Given the description of an element on the screen output the (x, y) to click on. 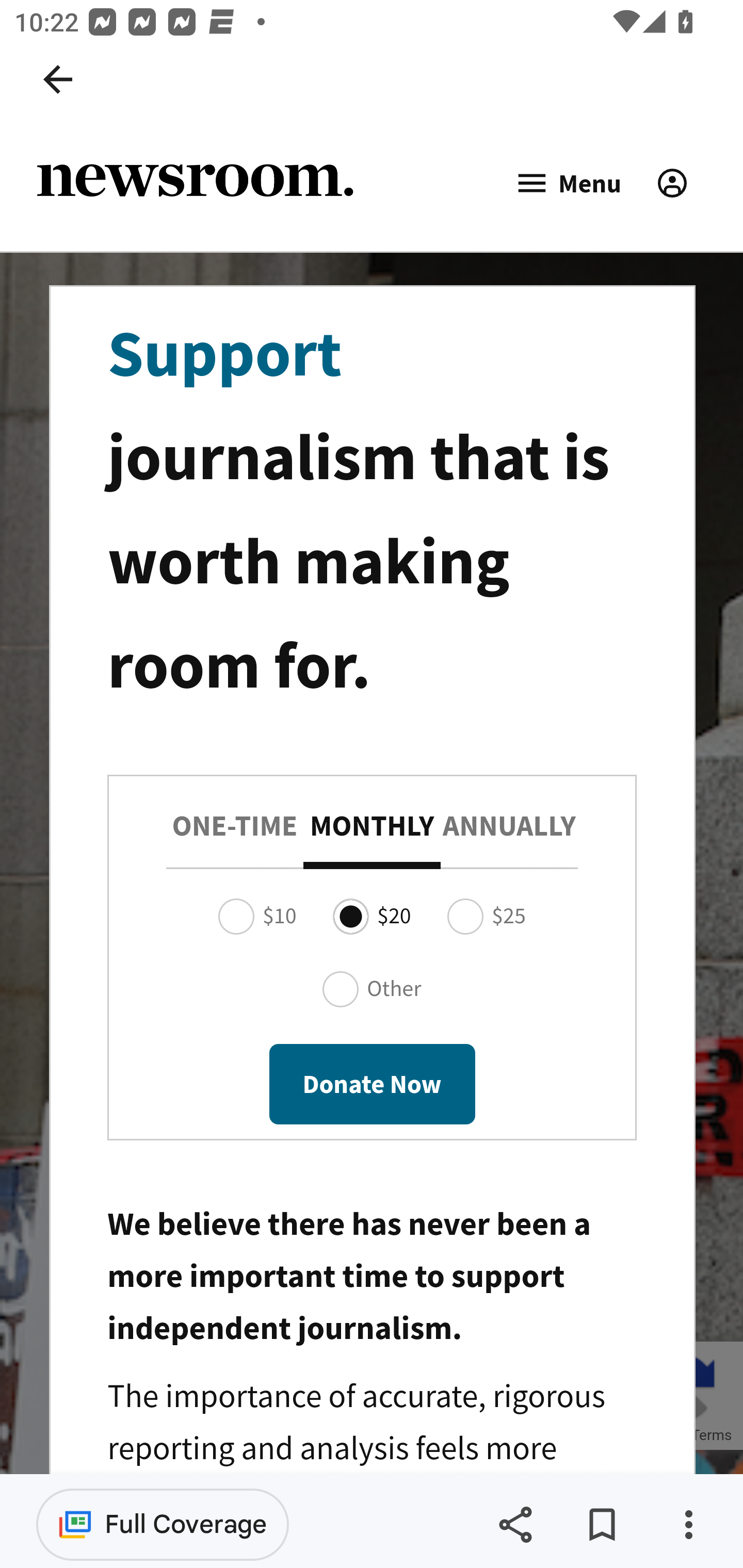
Navigate up (57, 79)
Newsroom (194, 182)
Sign In (672, 182)
Menu (567, 183)
ONE-TIME (234, 826)
MONTHLY (372, 826)
ANNUALLY (509, 826)
Donate Now (372, 1083)
Share (514, 1524)
Save for later (601, 1524)
More options (688, 1524)
Full Coverage (162, 1524)
